Given the description of an element on the screen output the (x, y) to click on. 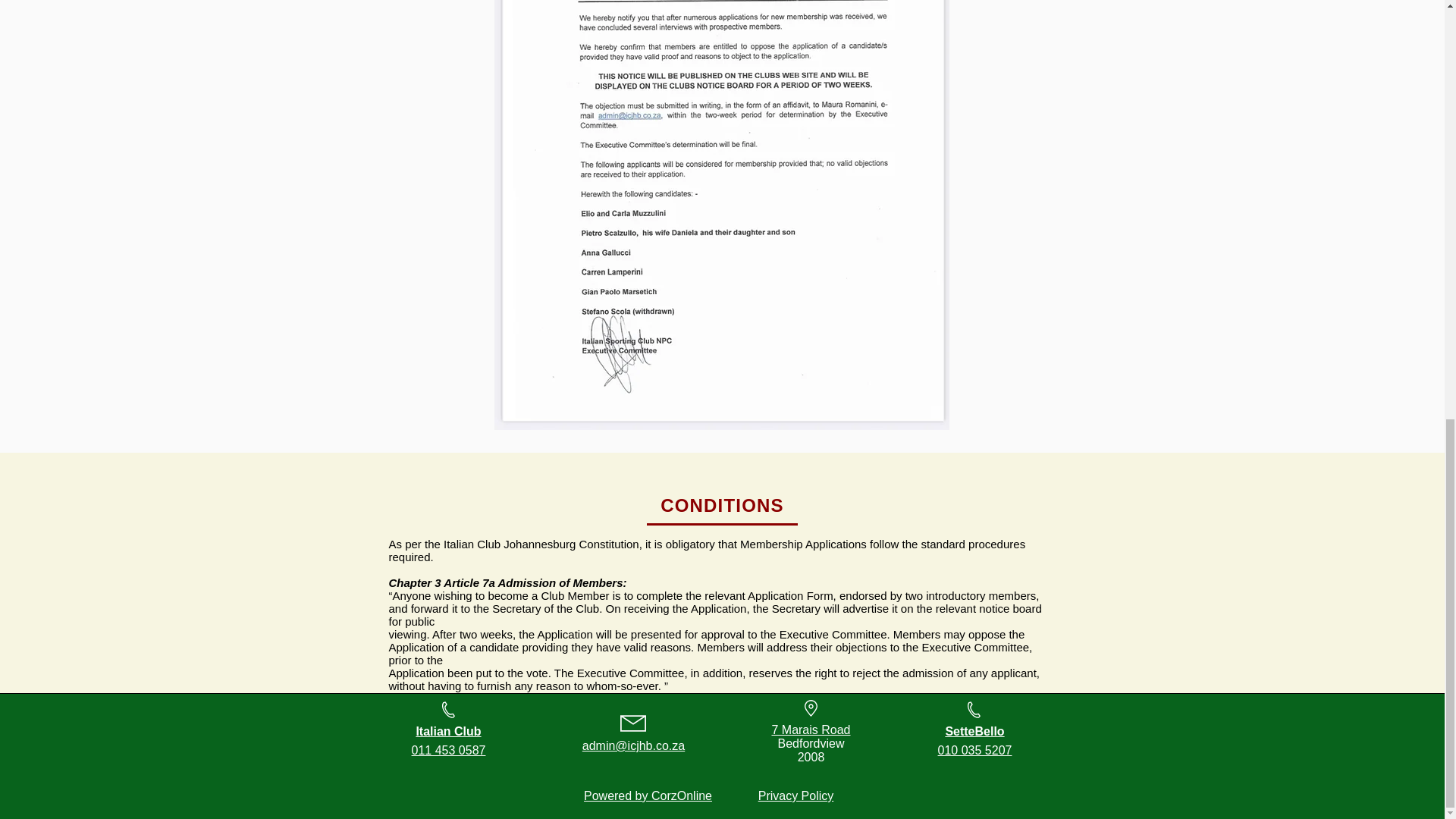
Powered by CorzOnline (647, 795)
011 453 0587 (449, 749)
010 035 5207 (974, 749)
Privacy Policy (796, 795)
7 Marais Road (810, 729)
Italian Club (447, 730)
SetteBello (974, 730)
